Given the description of an element on the screen output the (x, y) to click on. 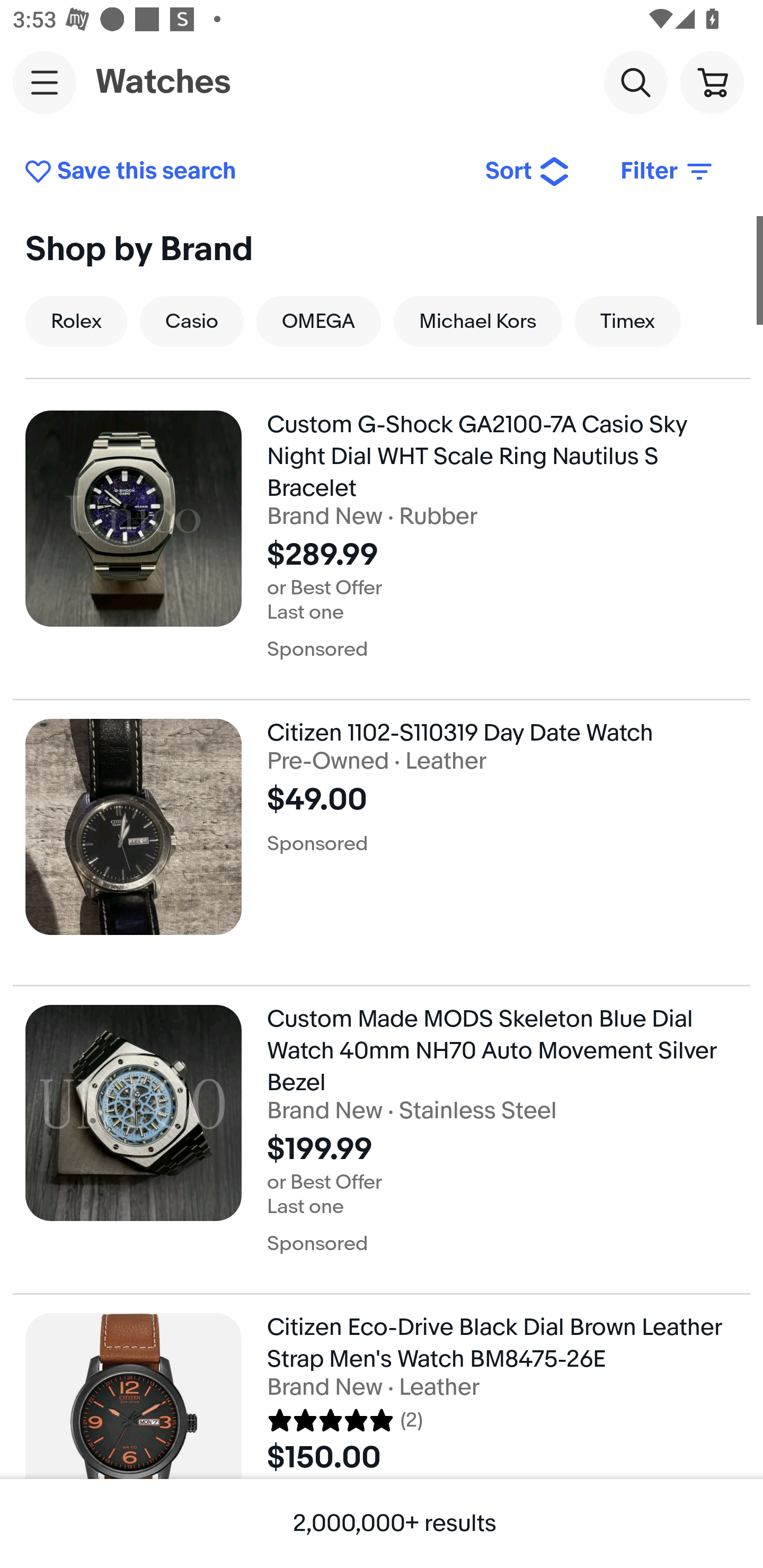
Main navigation, open (44, 82)
Search (635, 81)
Cart button shopping cart (711, 81)
Save this search (241, 171)
Sort (527, 171)
Filter (667, 171)
Rolex Rolex, Brand (76, 321)
Casio Casio, Brand (191, 321)
OMEGA OMEGA, Brand (318, 321)
Michael Kors Michael Kors, Brand (477, 321)
Timex Timex, Brand (627, 321)
